Given the description of an element on the screen output the (x, y) to click on. 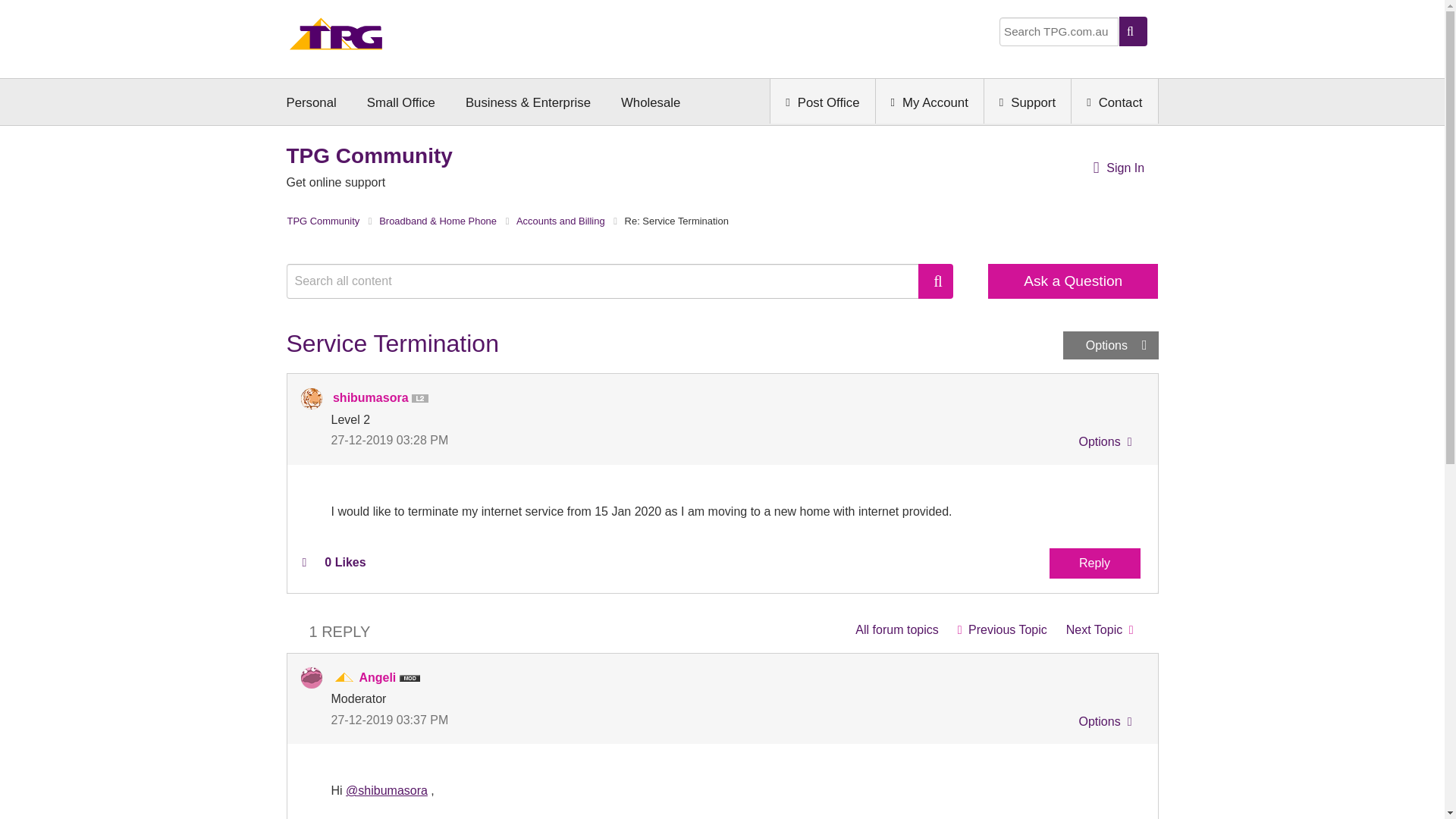
Posted on (526, 439)
Search (935, 280)
Moderator (344, 677)
Home (335, 38)
Accounts and Billing (896, 629)
Search (935, 280)
Level 2 (422, 398)
shibumasora (310, 398)
Cancel account (1099, 629)
Moving Home (1002, 629)
